Given the description of an element on the screen output the (x, y) to click on. 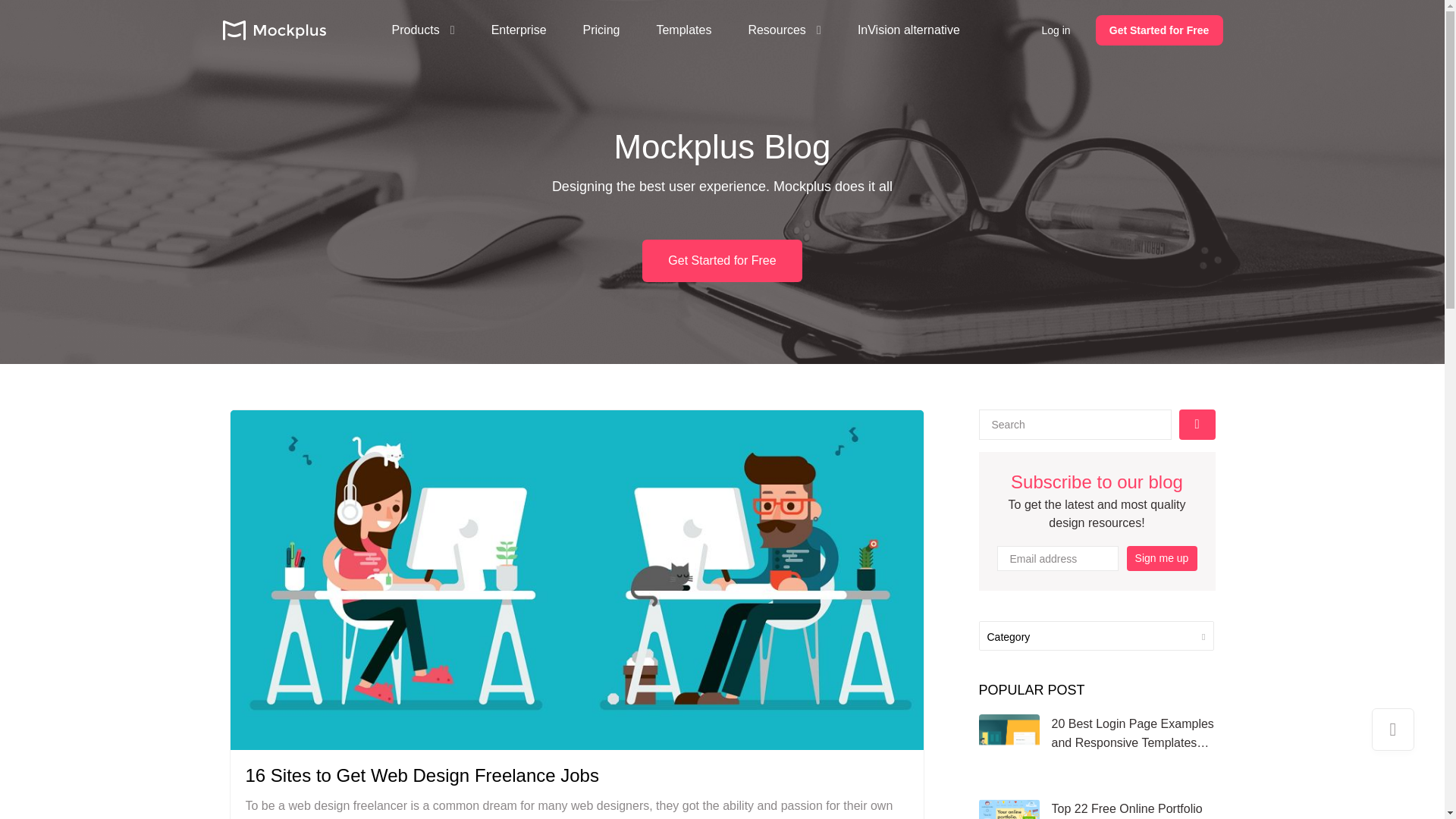
Templates (683, 30)
Enterprise (519, 30)
Get Started for Free (722, 260)
InVision alternative (908, 30)
Pricing (601, 30)
Get Started for Free (1158, 30)
Sign me up (1161, 558)
Log in (1055, 30)
